Given the description of an element on the screen output the (x, y) to click on. 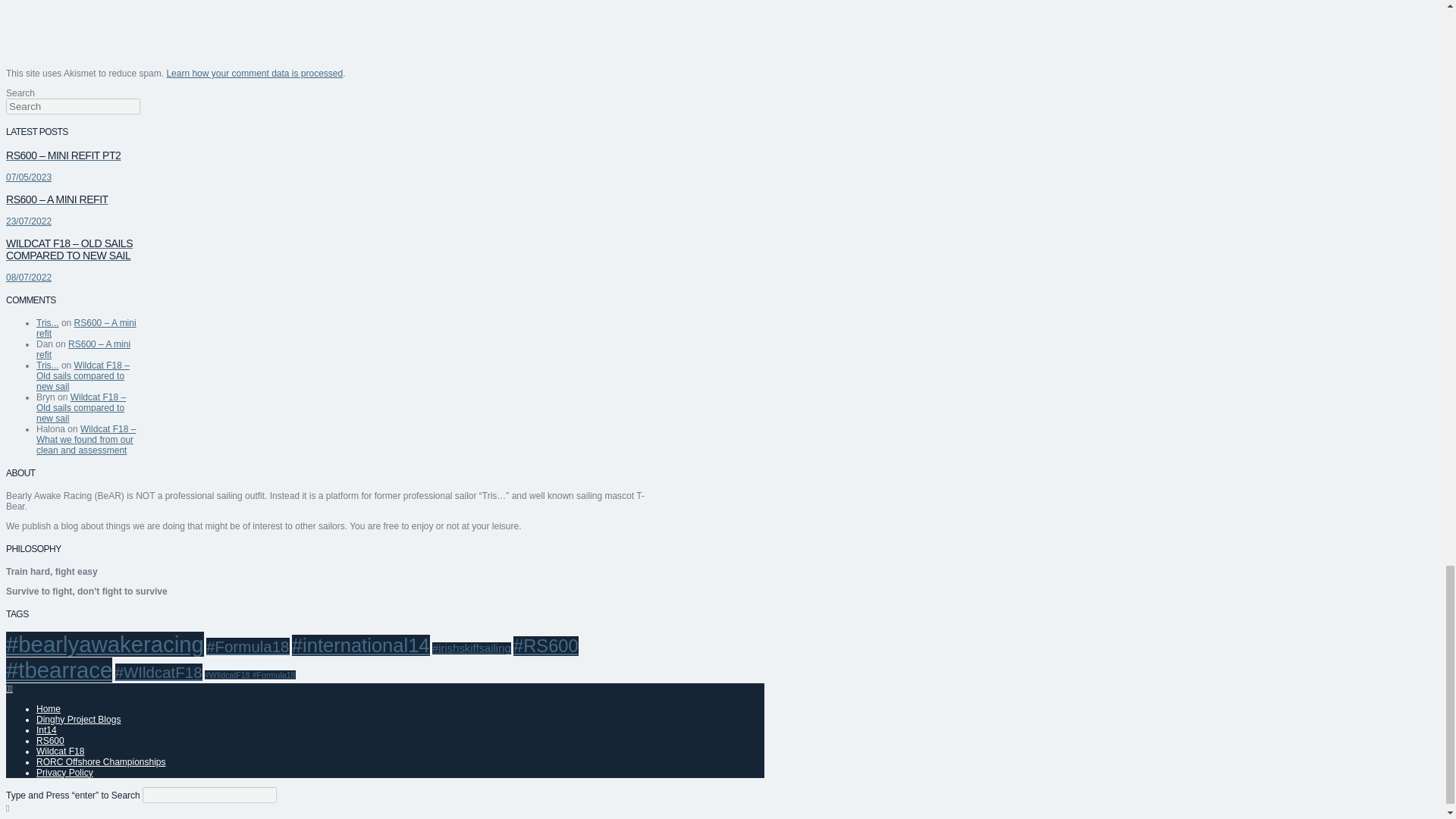
Comment Form (242, 28)
